Given the description of an element on the screen output the (x, y) to click on. 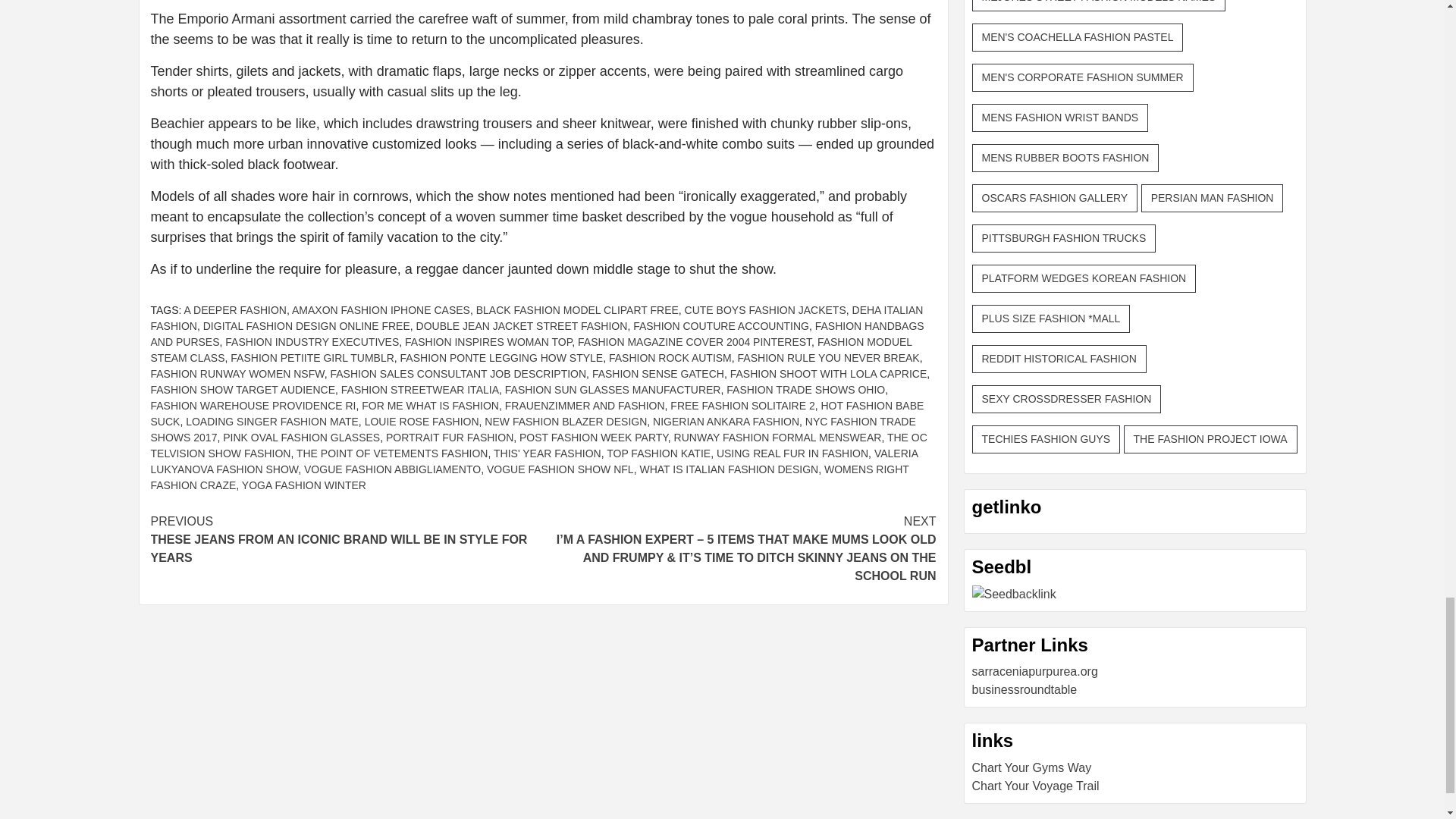
FASHION INDUSTRY EXECUTIVES (311, 341)
FASHION SENSE GATECH (657, 373)
FASHION MAGAZINE COVER 2004 PINTEREST (694, 341)
A DEEPER FASHION (235, 309)
FASHION COUTURE ACCOUNTING (721, 326)
FASHION HANDBAGS AND PURSES (536, 334)
FASHION PETIITE GIRL TUMBLR (311, 357)
DIGITAL FASHION DESIGN ONLINE FREE (306, 326)
FASHION RUNWAY WOMEN NSFW (236, 373)
FASHION PONTE LEGGING HOW STYLE (502, 357)
